Given the description of an element on the screen output the (x, y) to click on. 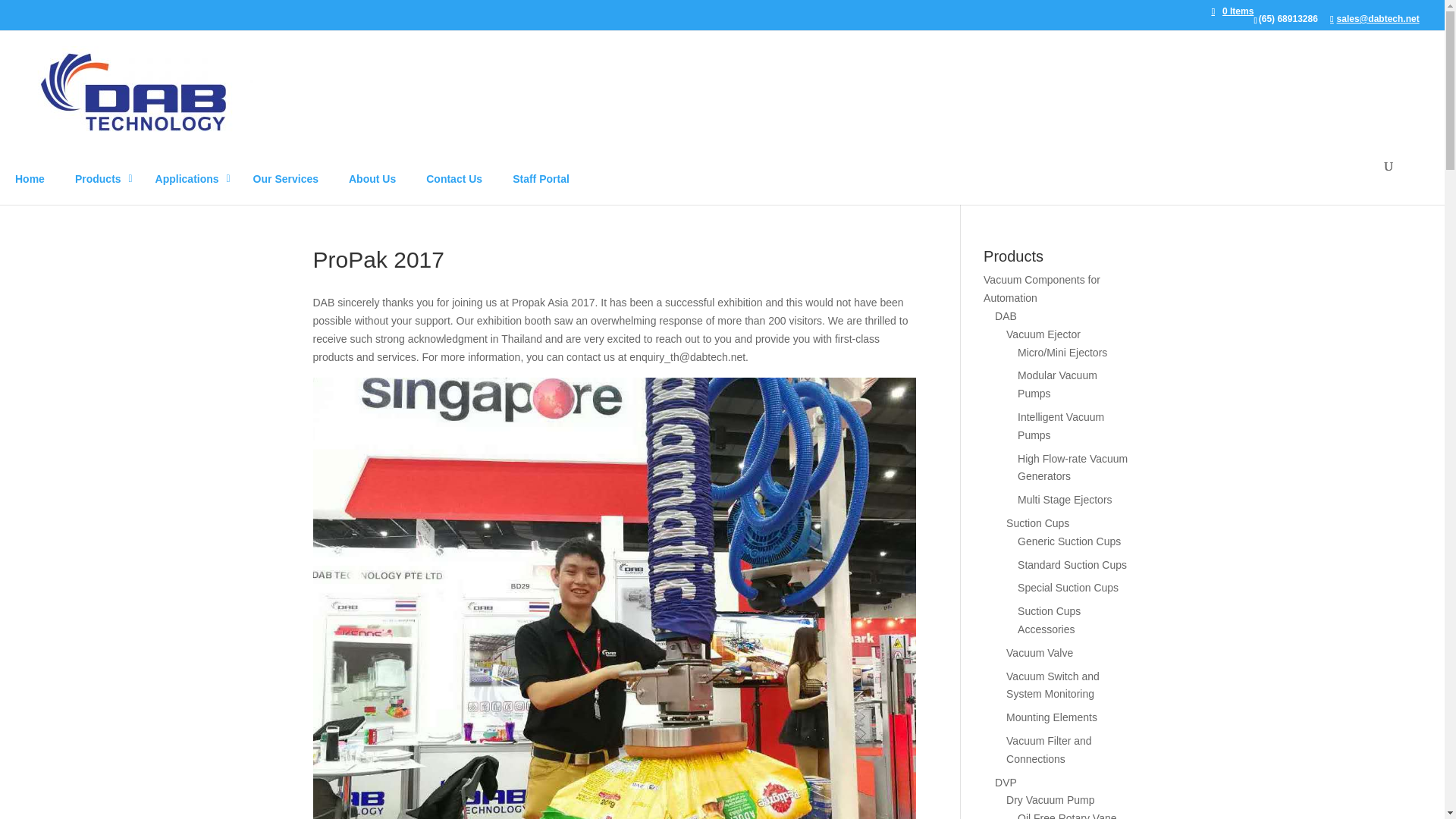
Products (99, 181)
Home (29, 181)
0 Items (1232, 10)
